Given the description of an element on the screen output the (x, y) to click on. 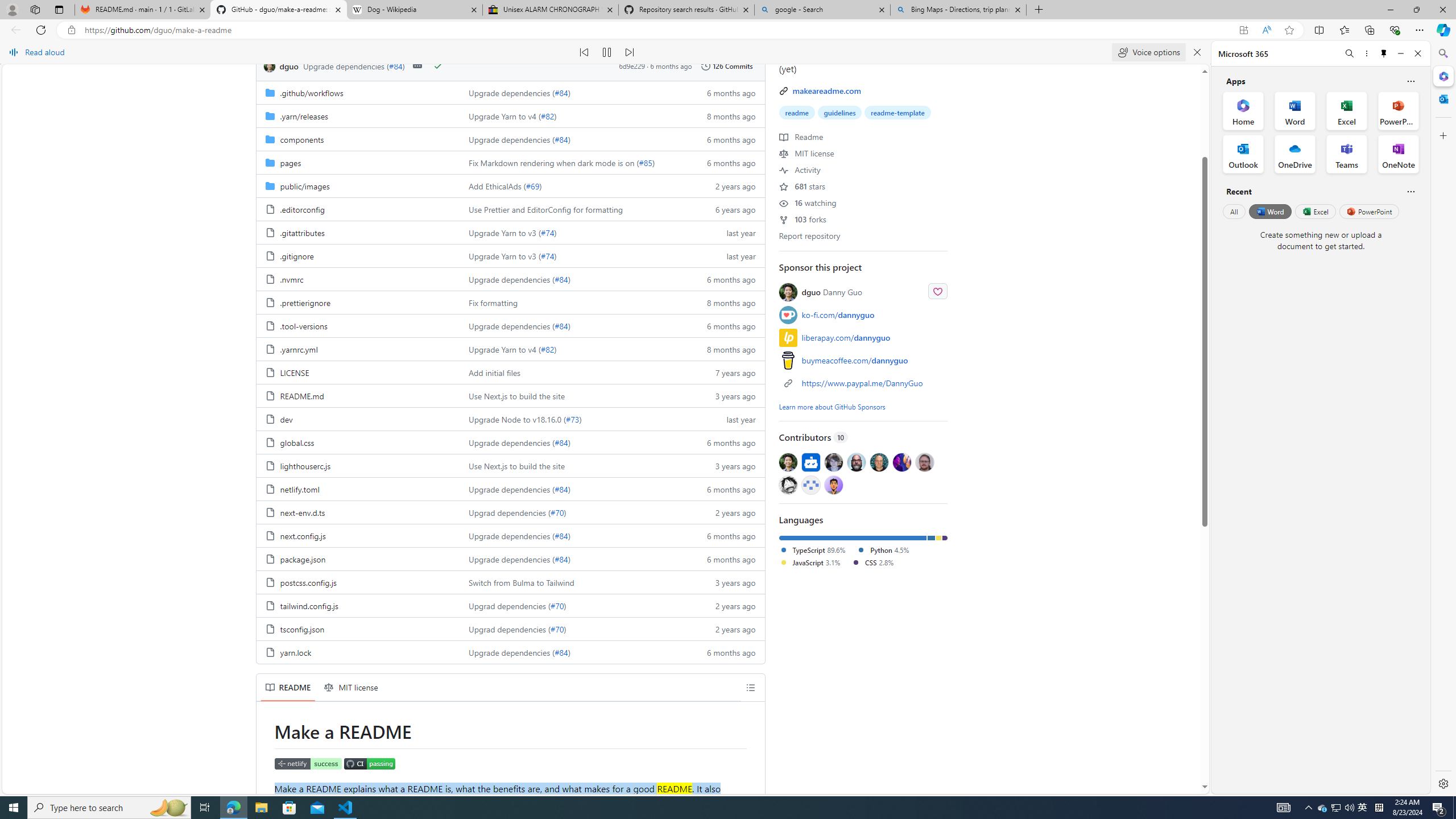
next.config.js, (File) (302, 535)
Make a README (306, 788)
buy_me_a_coffee (787, 359)
TypeScript 89.6% (811, 549)
.yarn/releases, (Directory) (358, 115)
dev, (File) (358, 418)
Python4.5% (887, 550)
global.css, (File) (296, 441)
.nvmrc, (File) (358, 278)
AutomationID: folder-row-23 (510, 628)
AutomationID: folder-row-22 (510, 604)
.tool-versions, (File) (303, 325)
ko-fi.com/dannyguo (837, 315)
